Given the description of an element on the screen output the (x, y) to click on. 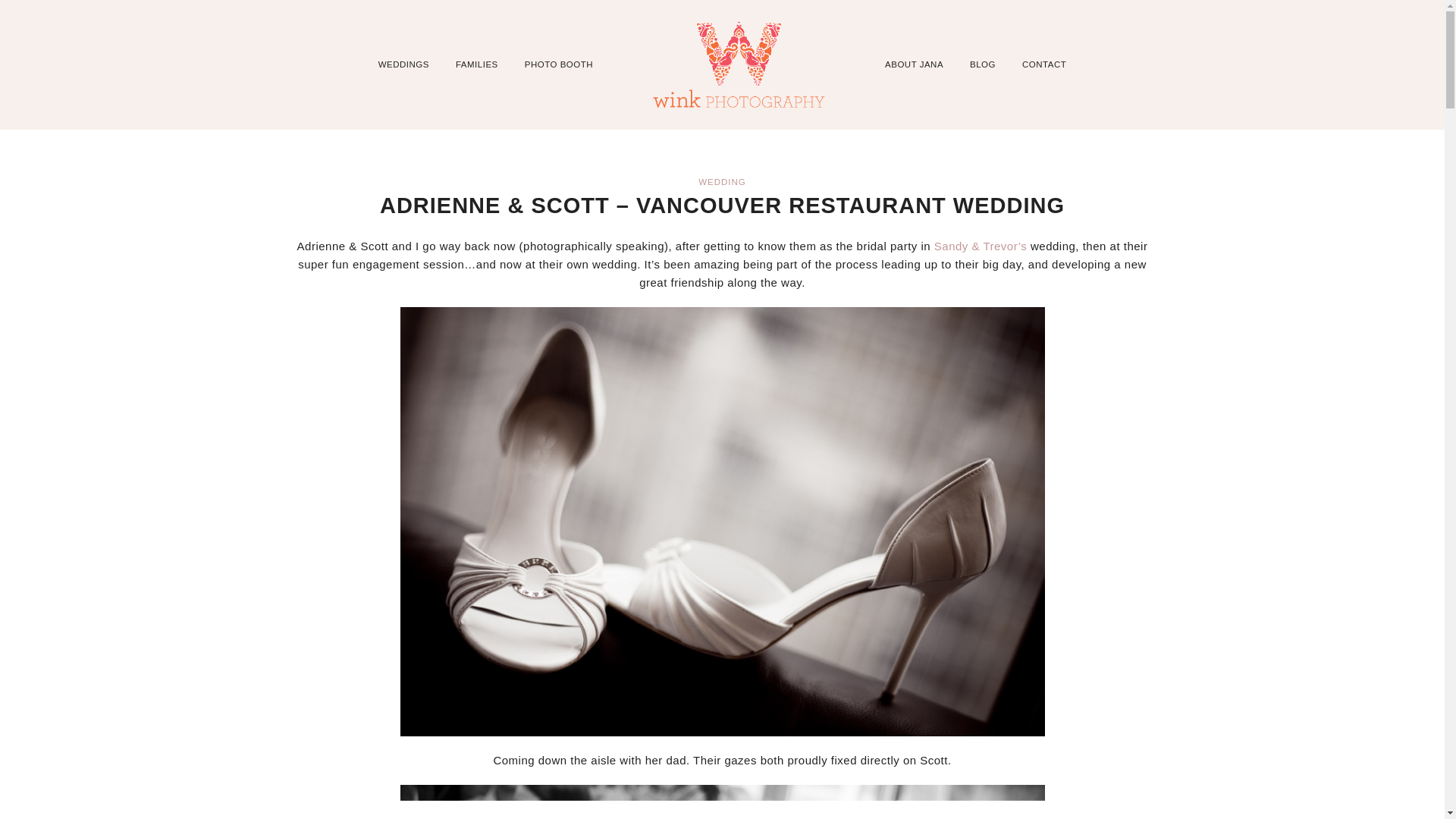
PHOTO BOOTH (558, 63)
CONTACT (1043, 63)
ABOUT JANA (914, 63)
BLOG (982, 63)
FAMILIES (476, 63)
WEDDINGS (403, 63)
WEDDING (721, 181)
